Given the description of an element on the screen output the (x, y) to click on. 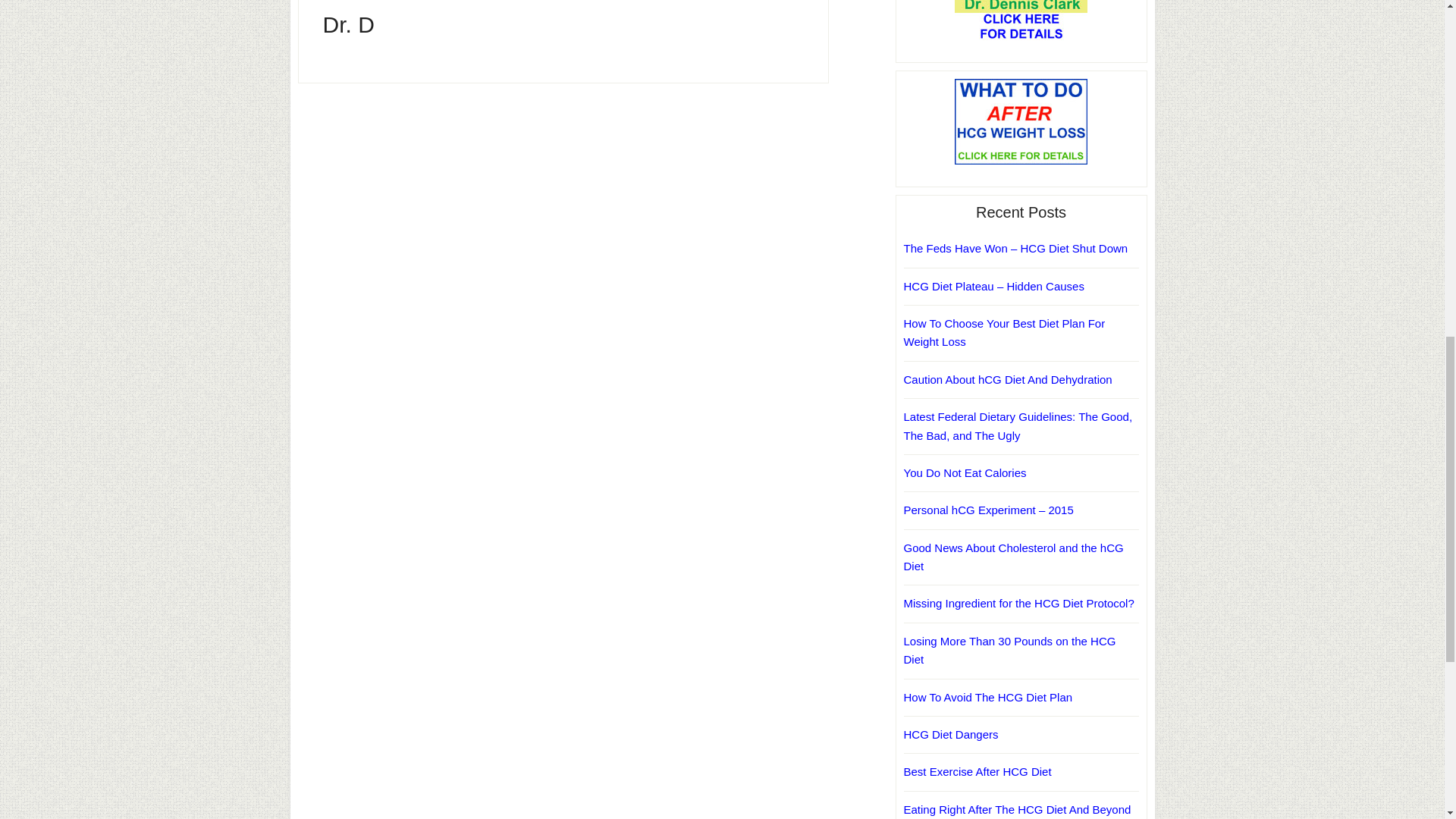
Best Exercise After HCG Diet (977, 771)
Missing Ingredient for the HCG Diet Protocol? (1019, 603)
How To Avoid The HCG Diet Plan (988, 696)
Losing More Than 30 Pounds on the HCG Diet (1010, 649)
How To Choose Your Best Diet Plan For Weight Loss (1004, 332)
Good News About Cholesterol and the hCG Diet (1014, 556)
You Do Not Eat Calories (965, 472)
after-hcg-weight-loss-1 (1021, 121)
Eating Right After The HCG Diet And Beyond (1017, 809)
Caution About hCG Diet And Dehydration (1008, 379)
